Given the description of an element on the screen output the (x, y) to click on. 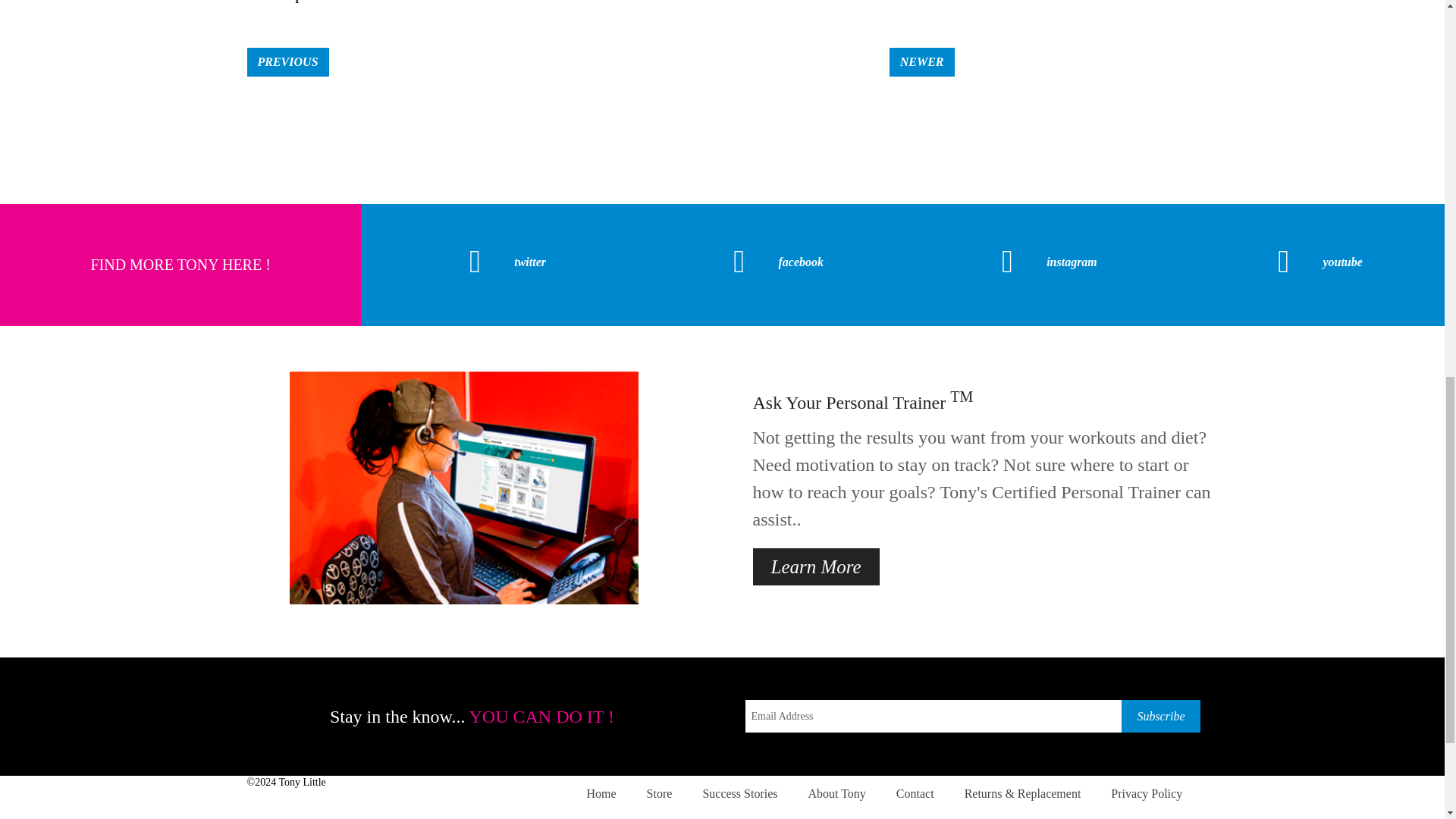
Subscribe (1160, 716)
Previous posts (288, 61)
tl-homepage-support-e1499326562674.png (464, 487)
Tony Little (301, 781)
Newer posts (922, 61)
